Given the description of an element on the screen output the (x, y) to click on. 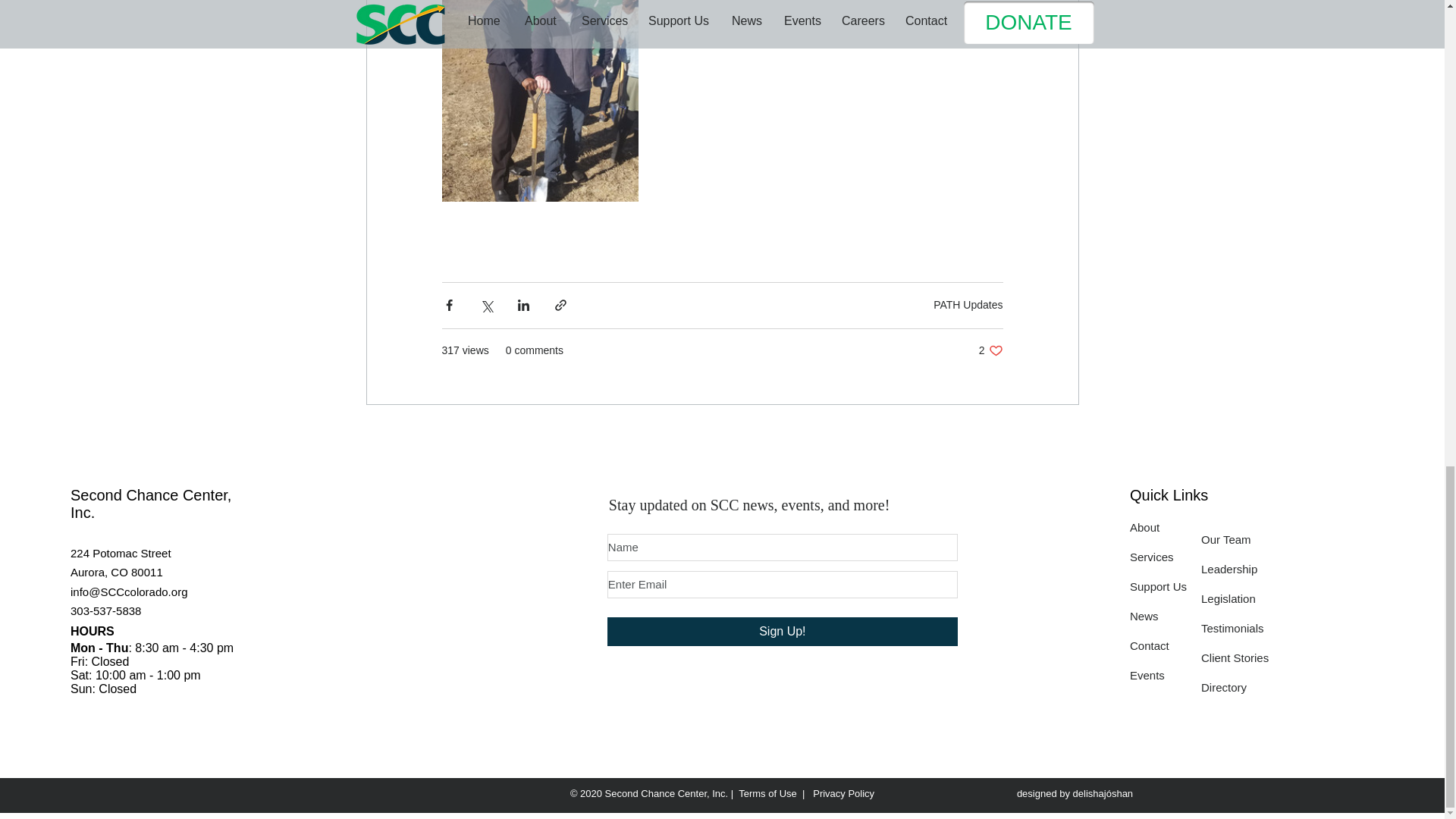
About (1143, 526)
Sign Up! (782, 631)
Support Us (1157, 585)
PATH Updates (990, 350)
303-537-5838 (968, 304)
Services (105, 610)
